Given the description of an element on the screen output the (x, y) to click on. 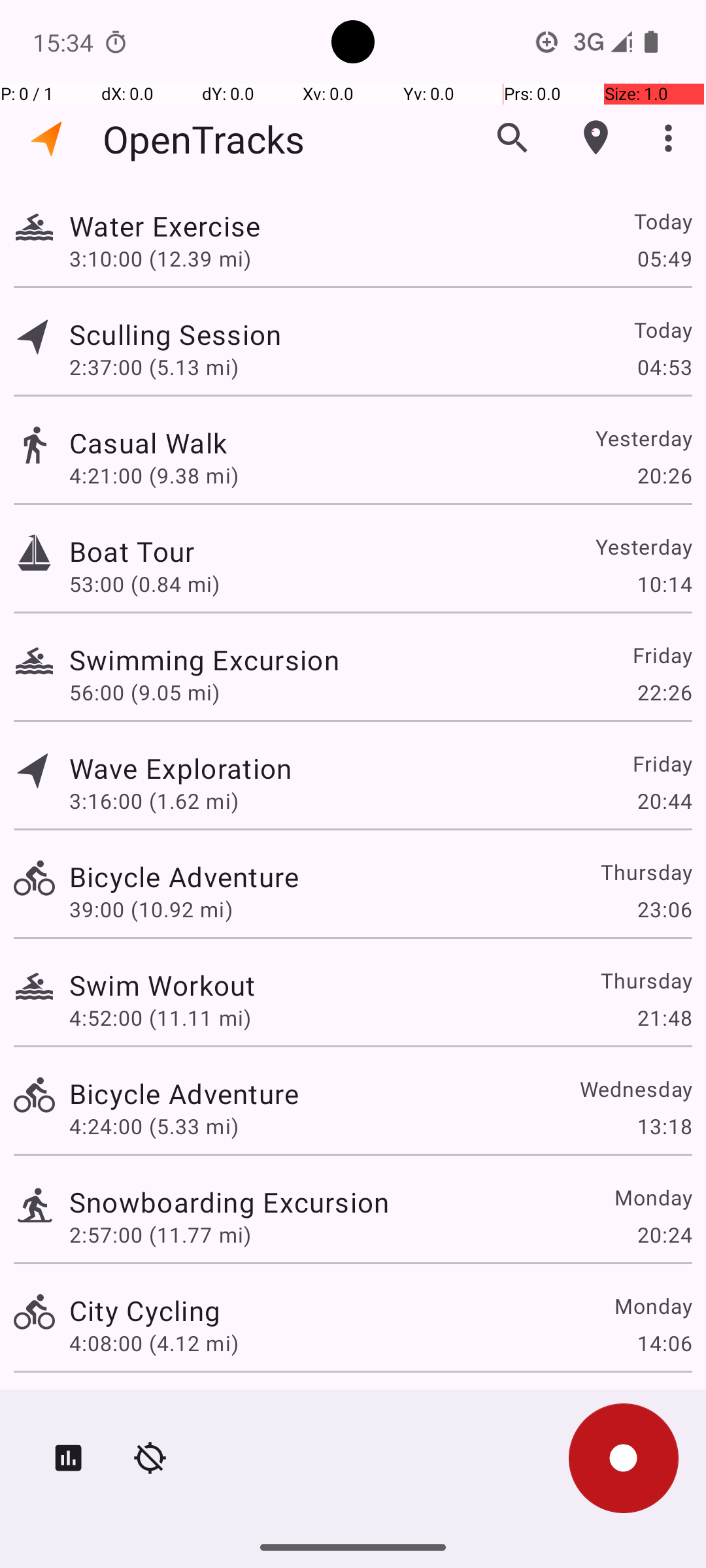
Water Exercise Element type: android.widget.TextView (164, 225)
3:10:00 (12.39 mi) Element type: android.widget.TextView (159, 258)
05:49 Element type: android.widget.TextView (664, 258)
Sculling Session Element type: android.widget.TextView (174, 333)
2:37:00 (5.13 mi) Element type: android.widget.TextView (153, 366)
04:53 Element type: android.widget.TextView (664, 366)
Casual Walk Element type: android.widget.TextView (147, 442)
4:21:00 (9.38 mi) Element type: android.widget.TextView (153, 475)
20:26 Element type: android.widget.TextView (664, 475)
Boat Tour Element type: android.widget.TextView (131, 550)
53:00 (0.84 mi) Element type: android.widget.TextView (144, 583)
10:14 Element type: android.widget.TextView (664, 583)
Swimming Excursion Element type: android.widget.TextView (203, 659)
56:00 (9.05 mi) Element type: android.widget.TextView (144, 692)
22:26 Element type: android.widget.TextView (664, 692)
Wave Exploration Element type: android.widget.TextView (180, 767)
3:16:00 (1.62 mi) Element type: android.widget.TextView (153, 800)
20:44 Element type: android.widget.TextView (664, 800)
Bicycle Adventure Element type: android.widget.TextView (183, 876)
39:00 (10.92 mi) Element type: android.widget.TextView (150, 909)
23:06 Element type: android.widget.TextView (664, 909)
Swim Workout Element type: android.widget.TextView (162, 984)
4:52:00 (11.11 mi) Element type: android.widget.TextView (159, 1017)
21:48 Element type: android.widget.TextView (664, 1017)
4:24:00 (5.33 mi) Element type: android.widget.TextView (153, 1125)
13:18 Element type: android.widget.TextView (664, 1125)
Snowboarding Excursion Element type: android.widget.TextView (229, 1201)
2:57:00 (11.77 mi) Element type: android.widget.TextView (159, 1234)
20:24 Element type: android.widget.TextView (664, 1234)
City Cycling Element type: android.widget.TextView (144, 1309)
4:08:00 (4.12 mi) Element type: android.widget.TextView (153, 1342)
14:06 Element type: android.widget.TextView (664, 1342)
Slow day Element type: android.widget.TextView (126, 1408)
